Given the description of an element on the screen output the (x, y) to click on. 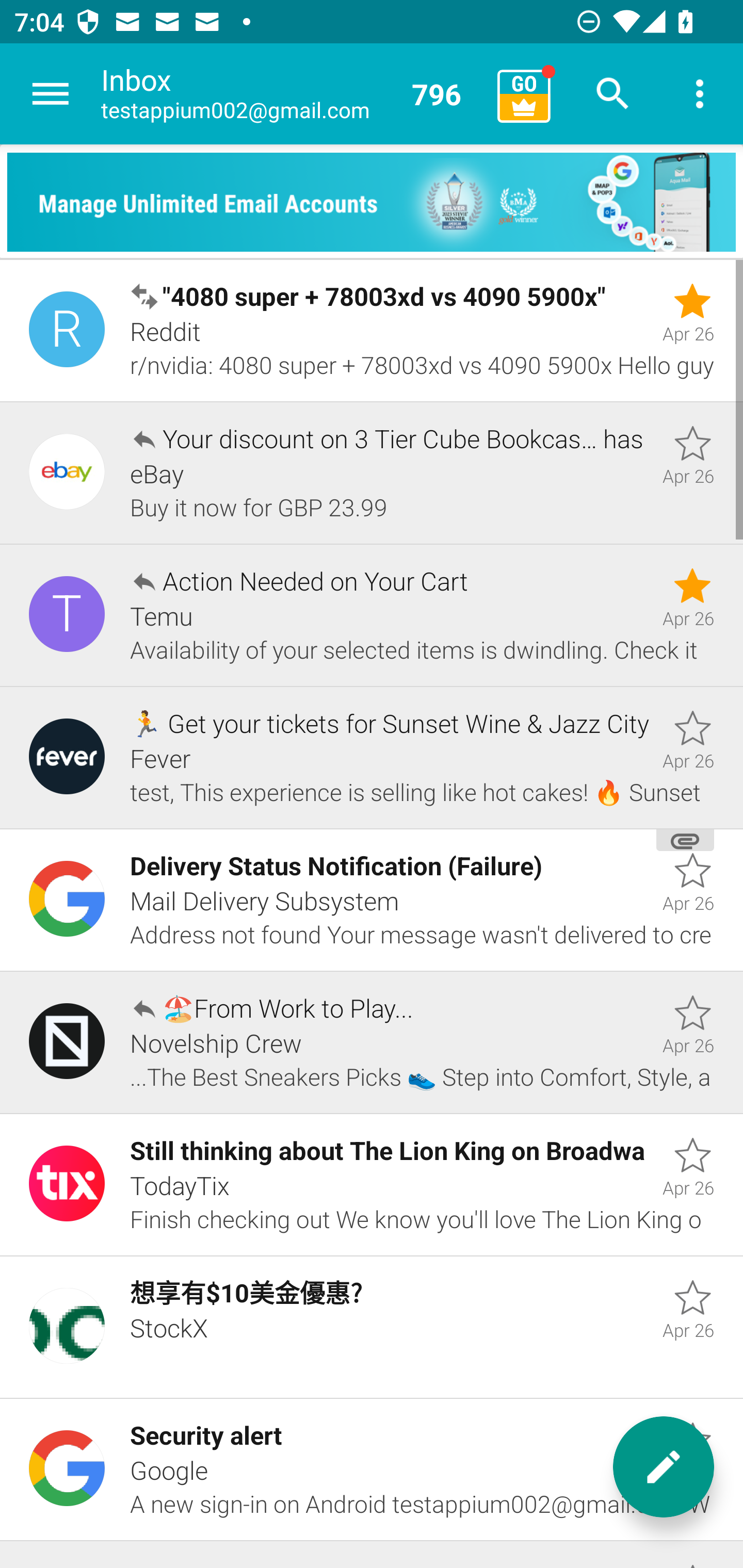
Navigate up (50, 93)
Inbox testappium002@gmail.com 796 (291, 93)
Search (612, 93)
More options (699, 93)
Unread, 想享有$10美金優惠?, StockX, Apr 26 (371, 1326)
New message (663, 1466)
